Given the description of an element on the screen output the (x, y) to click on. 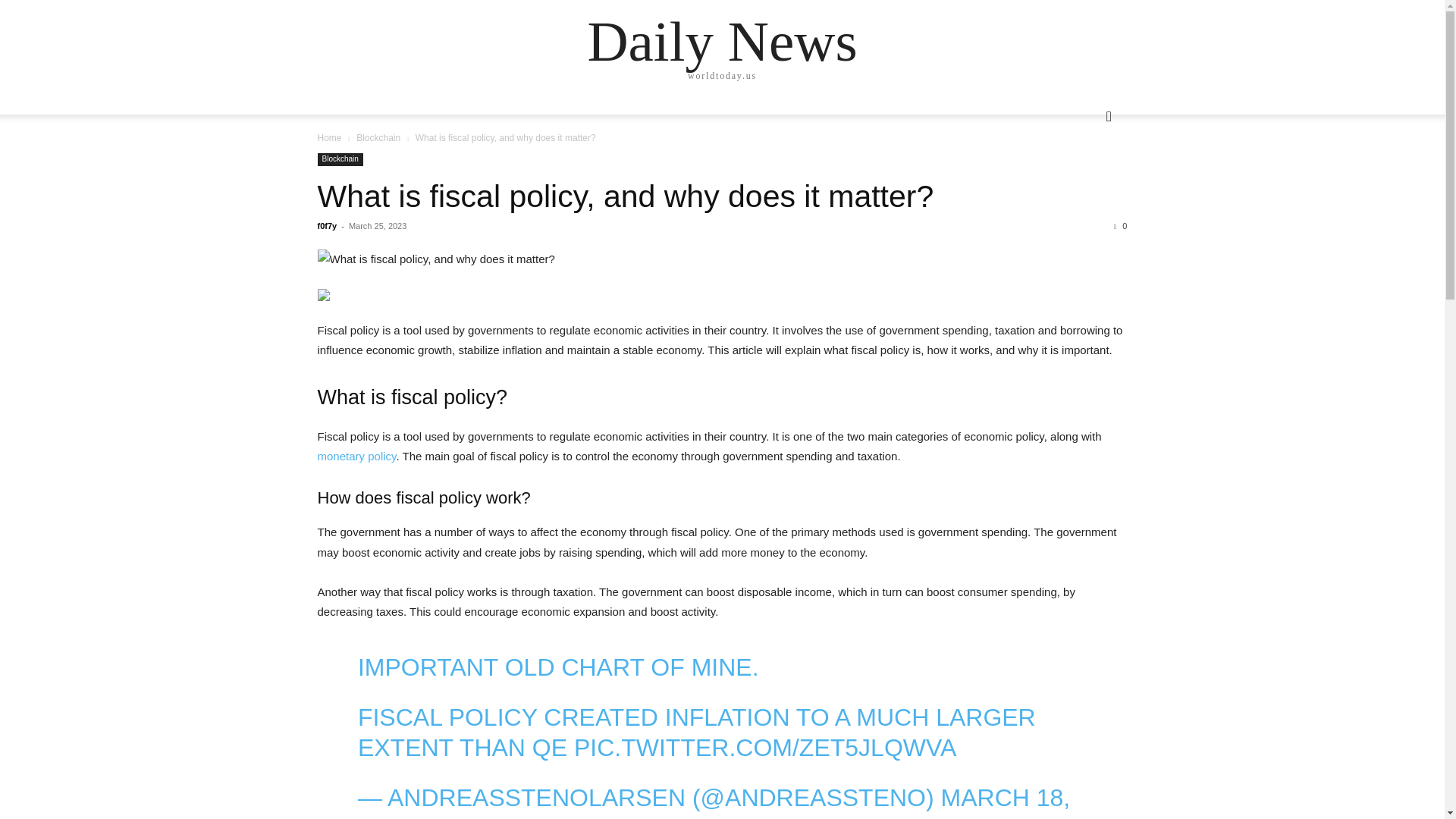
Blockchain (339, 159)
f0f7y (326, 225)
What is fiscal policy, and why does it matter? (625, 196)
Blockchain (378, 137)
What is fiscal policy, and why does it matter? (625, 196)
0 (1119, 225)
monetary policy (356, 455)
MARCH 18, 2023 (714, 801)
Search (1085, 177)
Home (328, 137)
View all posts in Blockchain (378, 137)
What is fiscal policy, and why does it matter? (721, 259)
Daily News (721, 41)
